Given the description of an element on the screen output the (x, y) to click on. 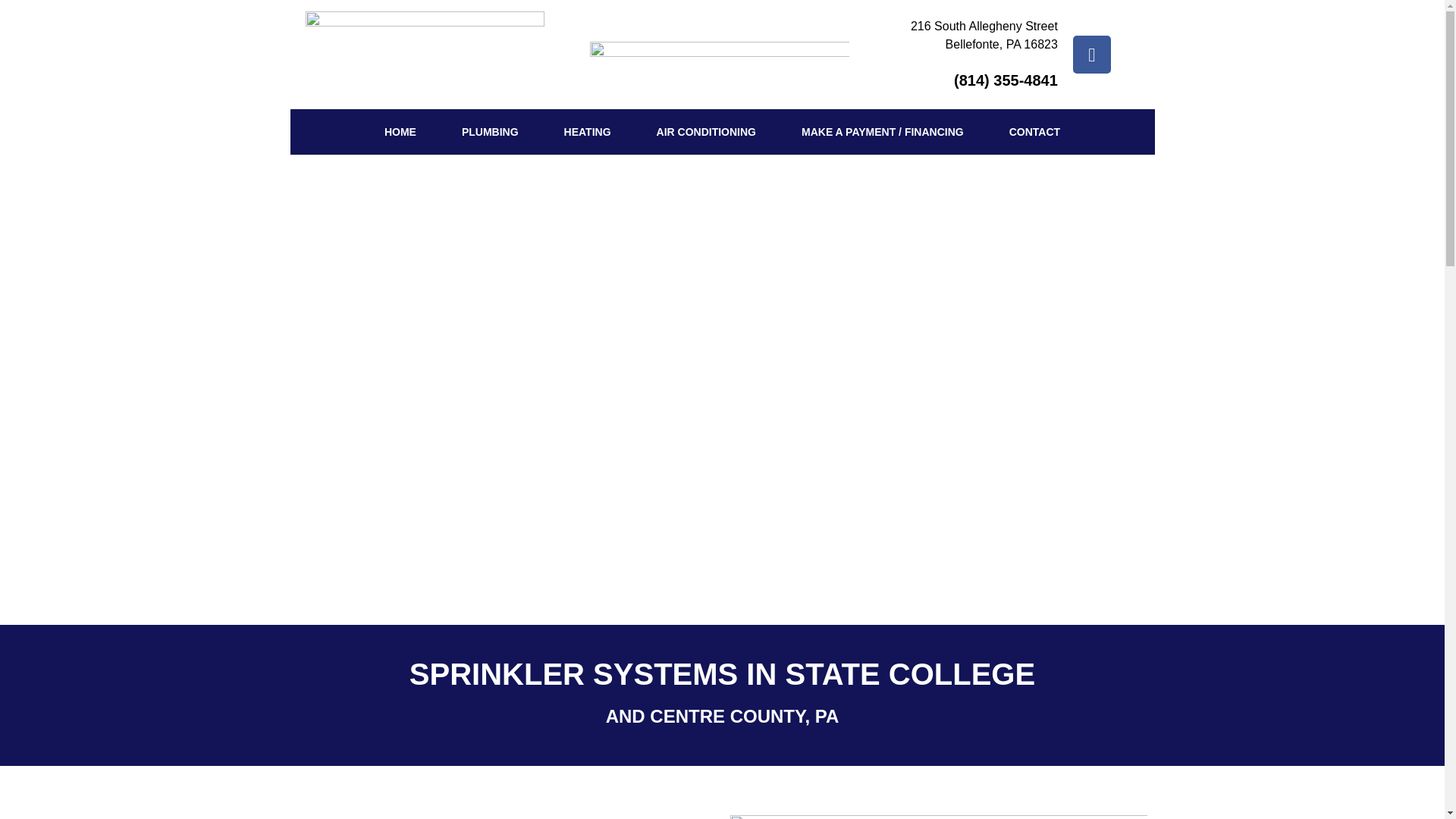
PLUMBING (490, 132)
HEATING (587, 132)
HOME (399, 132)
